Given the description of an element on the screen output the (x, y) to click on. 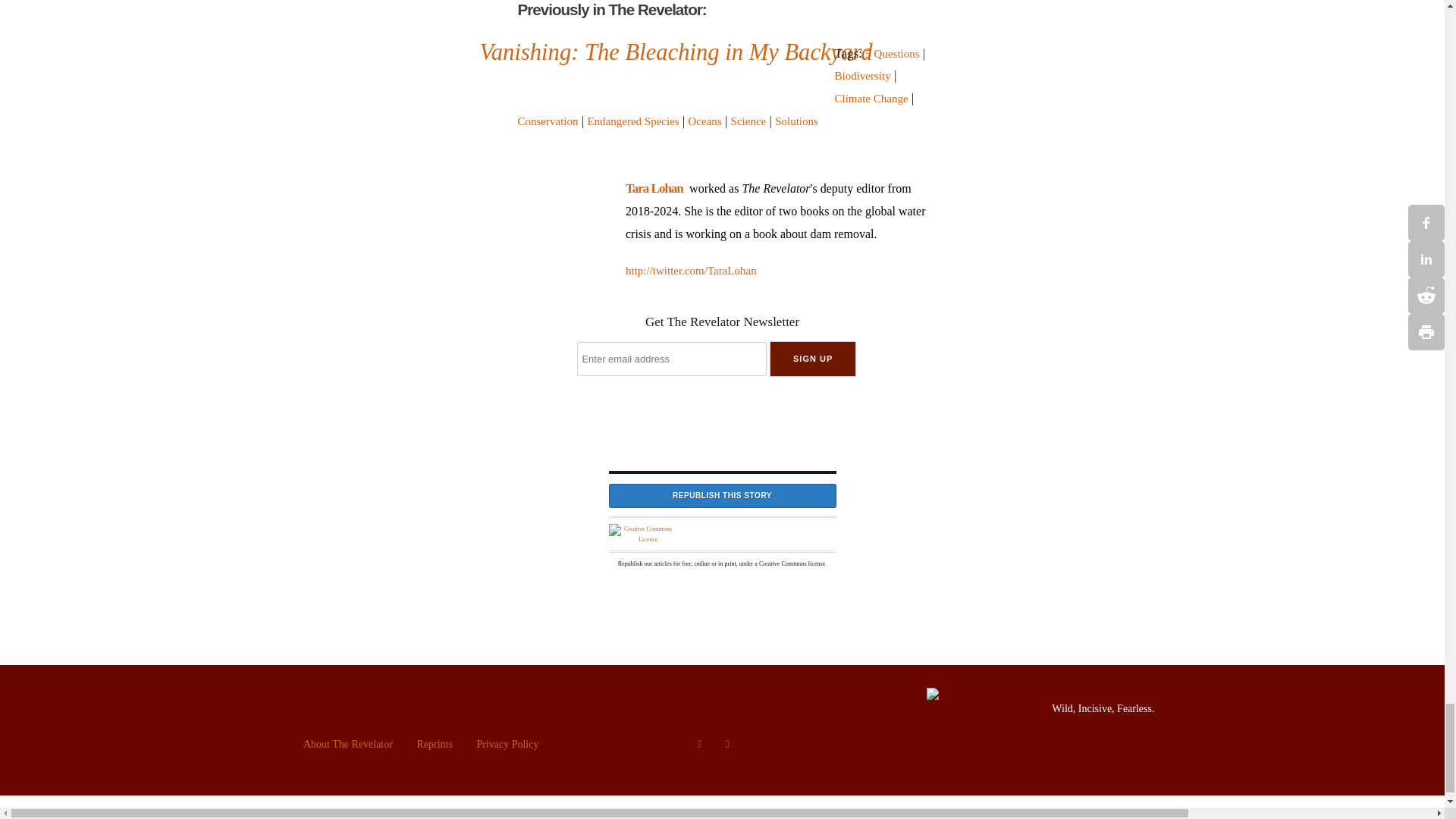
Follow Tara Lohan on Twitter (776, 270)
